Given the description of an element on the screen output the (x, y) to click on. 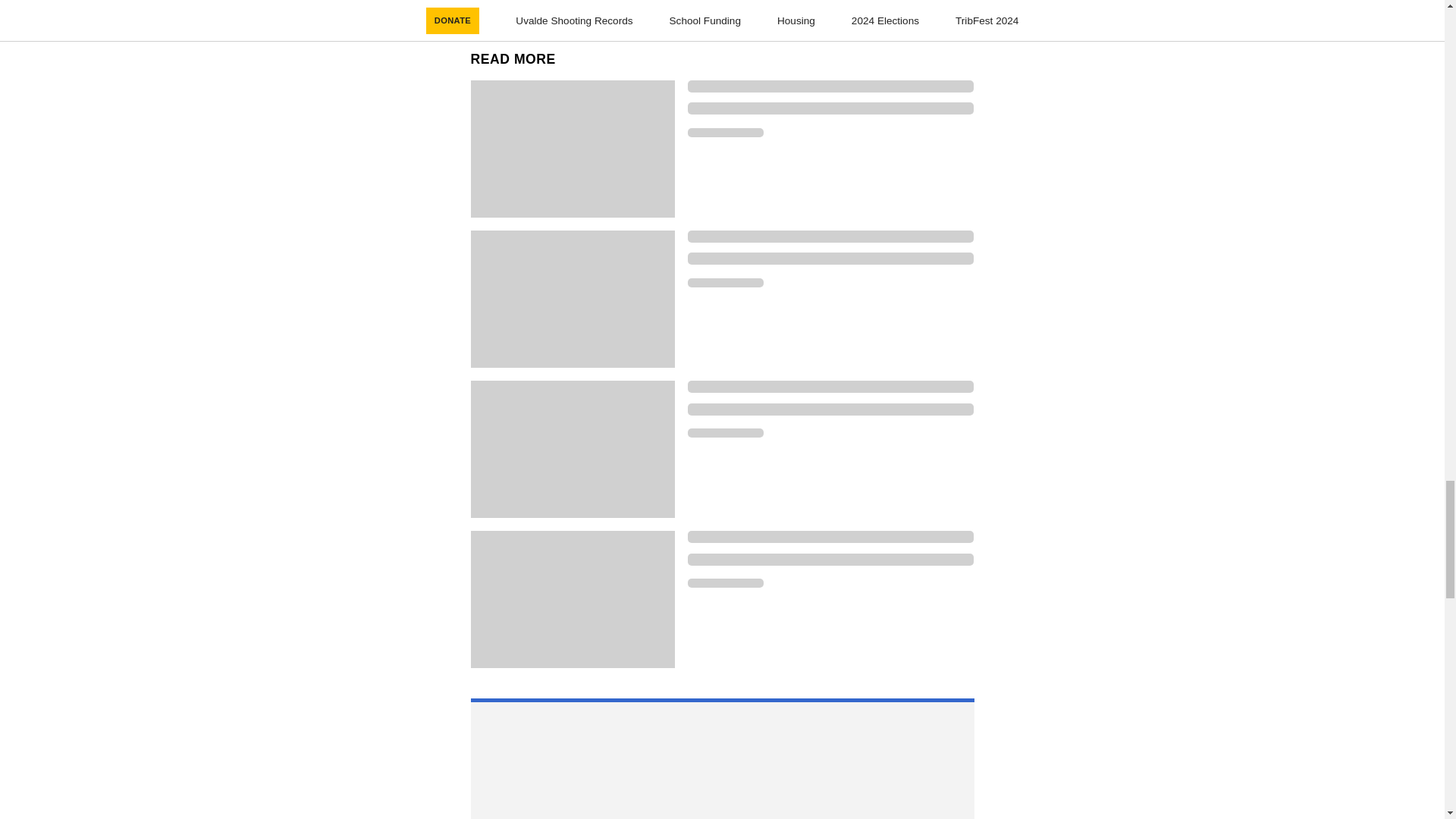
Loading indicator (724, 432)
Loading indicator (724, 583)
Loading indicator (830, 386)
Loading indicator (830, 559)
Loading indicator (830, 86)
Loading indicator (830, 409)
Loading indicator (830, 236)
Loading indicator (724, 132)
Loading indicator (830, 536)
Loading indicator (724, 282)
